Given the description of an element on the screen output the (x, y) to click on. 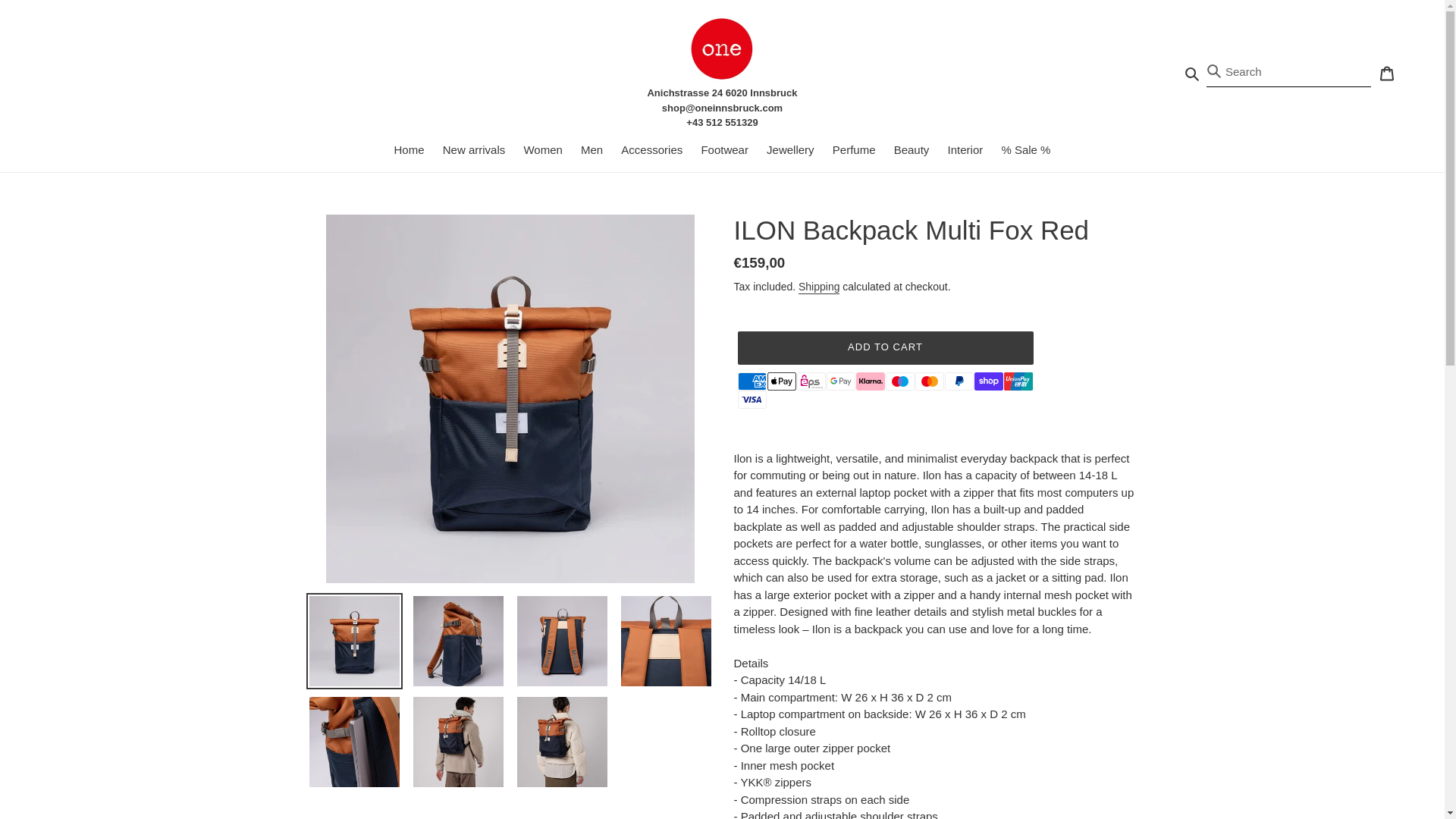
Footwear (724, 150)
Search (1193, 72)
Beauty (911, 150)
Women (542, 150)
Accessories (651, 150)
New arrivals (474, 150)
Men (591, 150)
Home (409, 150)
Jewellery (790, 150)
Perfume (854, 150)
